Given the description of an element on the screen output the (x, y) to click on. 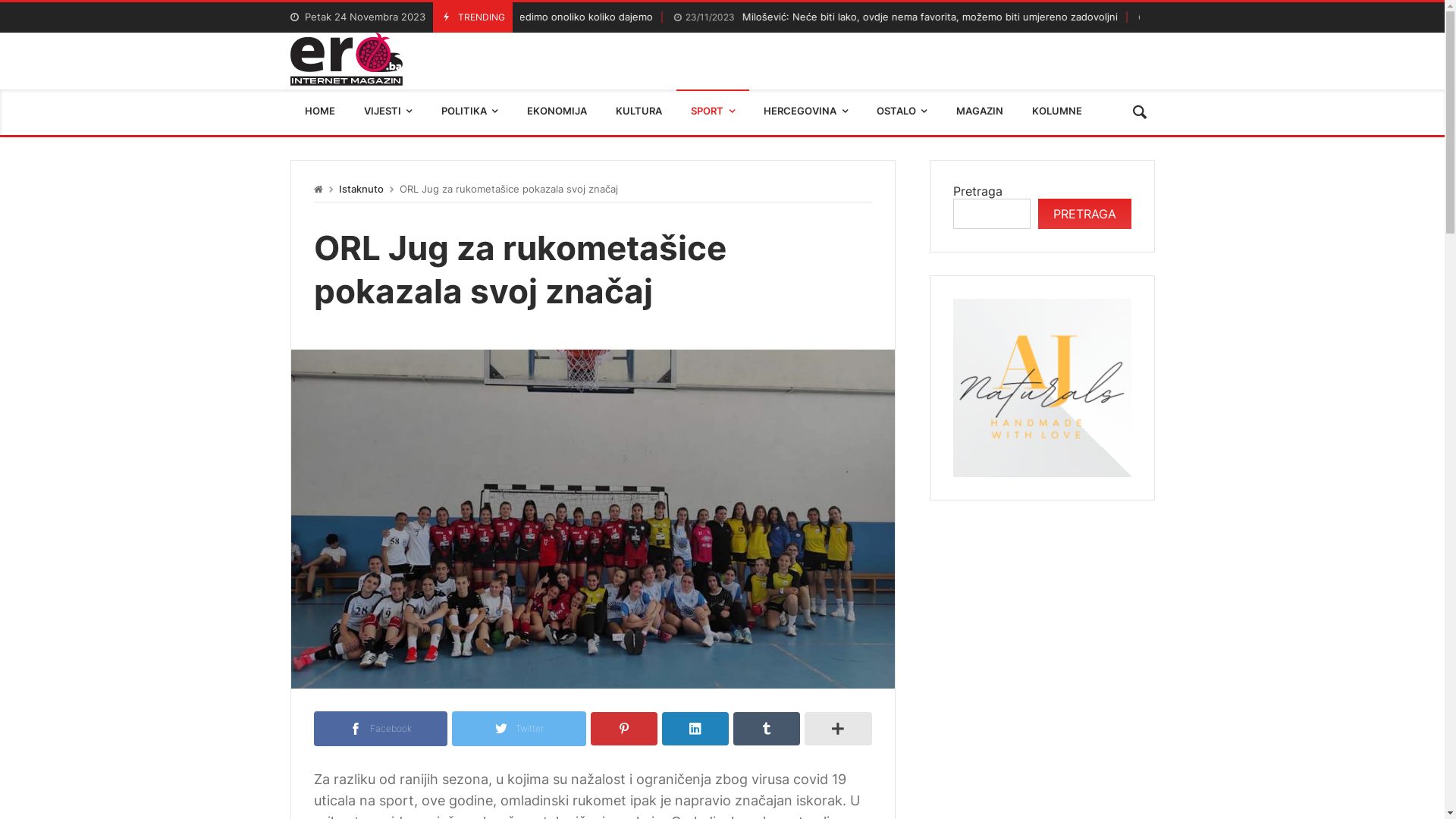
Istaknuto Element type: text (360, 188)
Facebook Element type: text (380, 728)
SPORT Element type: text (712, 111)
PRETRAGA Element type: text (1083, 213)
HERCEGOVINA Element type: text (805, 111)
MAGAZIN Element type: text (978, 111)
Venecija uvodi porez za turiste Element type: text (473, 17)
POLITIKA Element type: text (469, 111)
HOME Element type: text (318, 111)
VIJESTI Element type: text (387, 111)
KOLUMNE Element type: text (1056, 111)
Search Element type: hover (1139, 111)
KULTURA Element type: text (638, 111)
OSTALO Element type: text (901, 111)
Twitter Element type: text (518, 728)
EKONOMIJA Element type: text (555, 111)
